Given the description of an element on the screen output the (x, y) to click on. 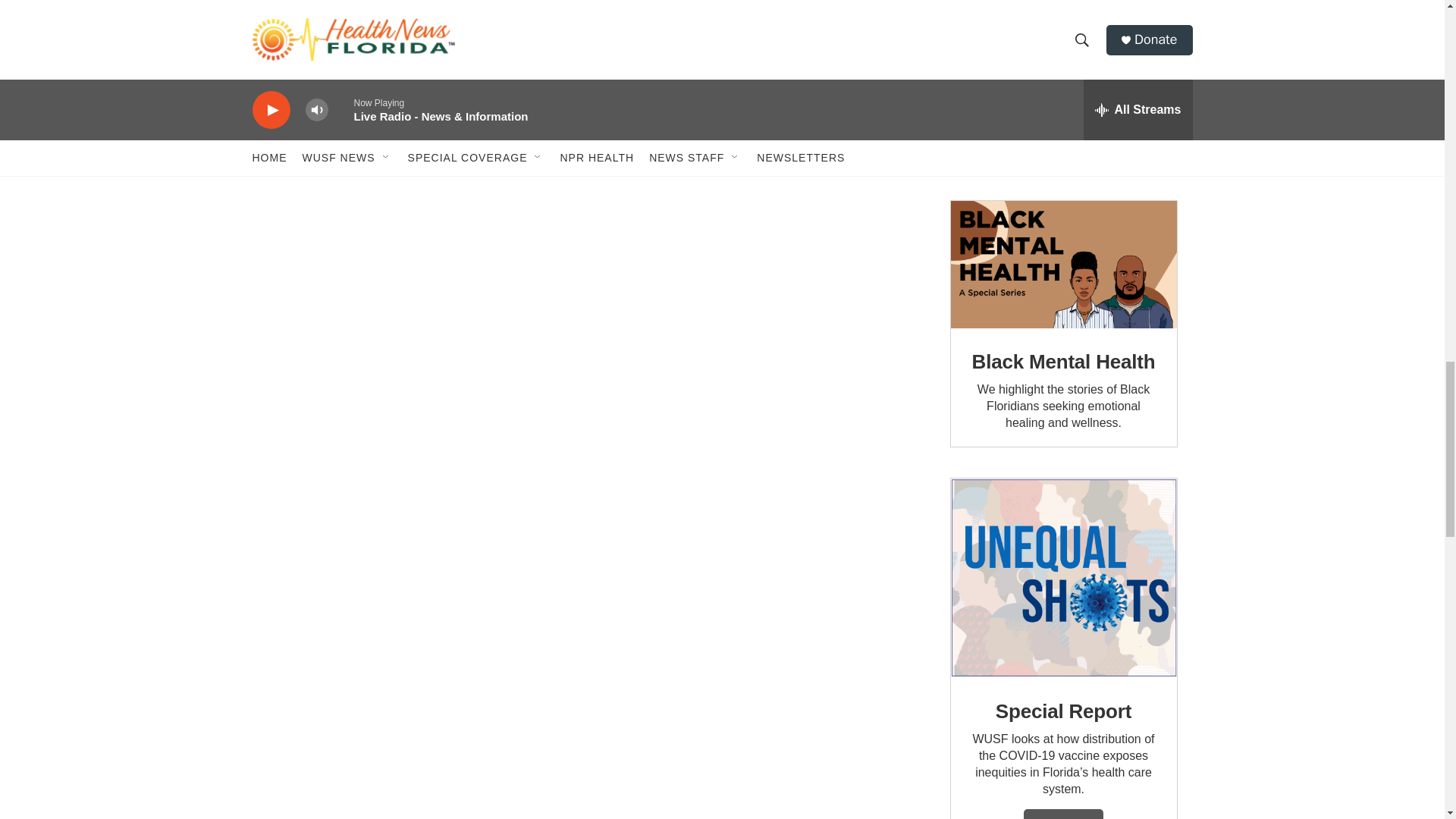
3rd party ad content (1062, 84)
